Given the description of an element on the screen output the (x, y) to click on. 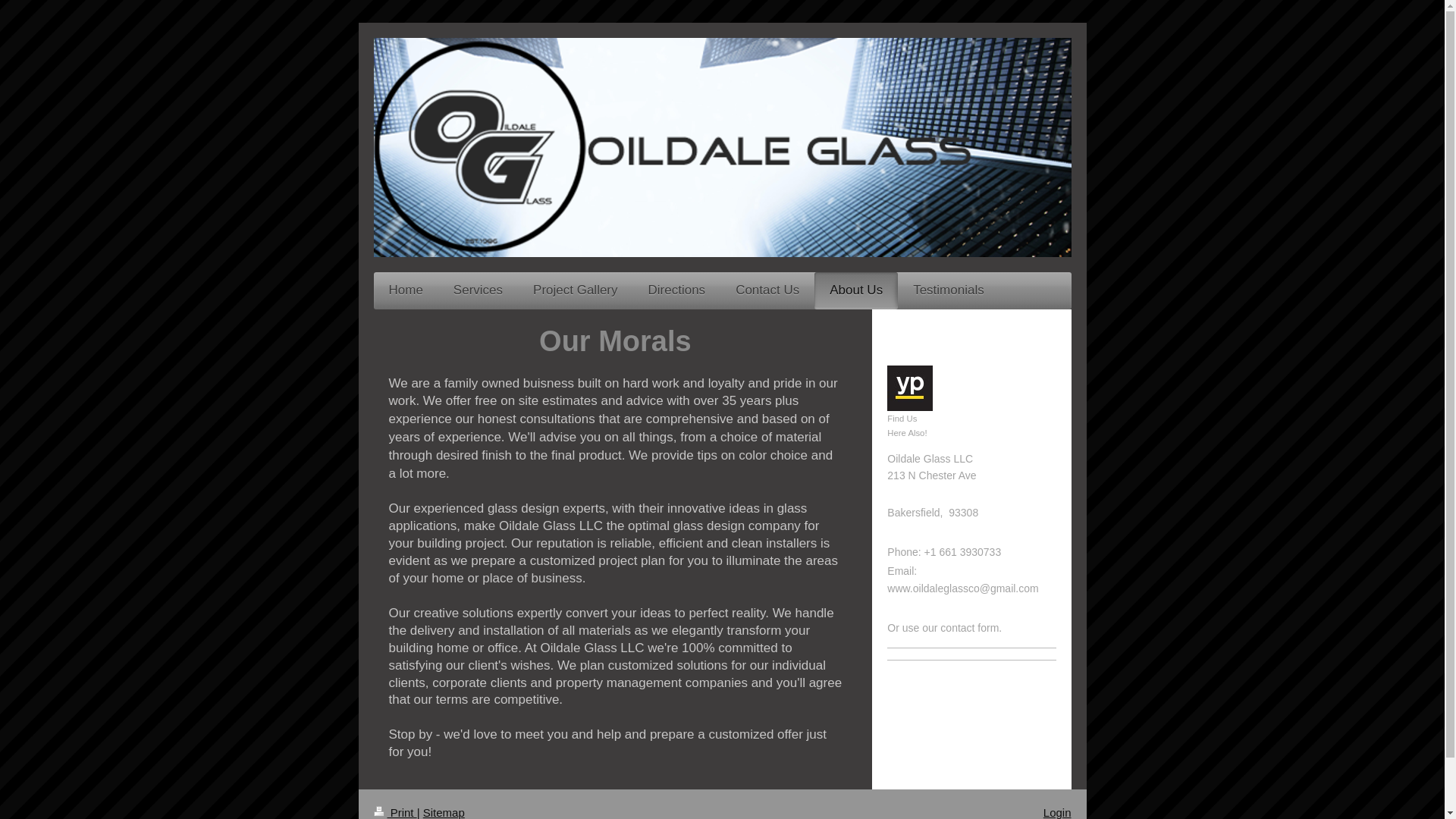
Directions (676, 290)
About Us (855, 290)
Sitemap (443, 812)
Contact Us (766, 290)
Print (394, 812)
Project Gallery (574, 290)
Testimonials (948, 290)
Services (478, 290)
Home (405, 290)
Login (1057, 812)
